Given the description of an element on the screen output the (x, y) to click on. 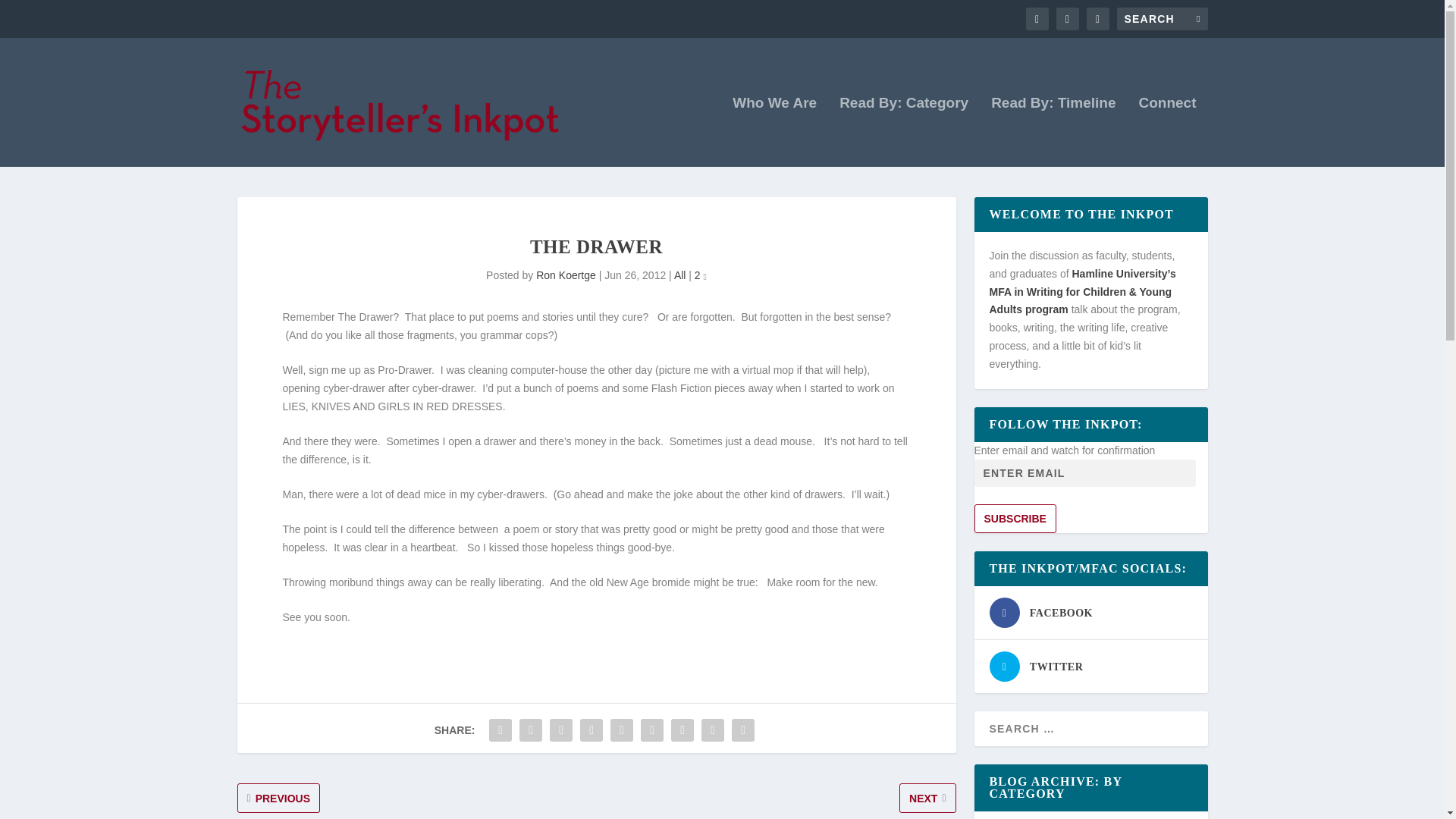
Share "The Drawer" via Twitter (530, 729)
Read By: Timeline (1053, 132)
2 (700, 275)
All (679, 275)
Share "The Drawer" via Print (743, 729)
Share "The Drawer" via Buffer (651, 729)
Share "The Drawer" via Stumbleupon (681, 729)
Share "The Drawer" via Pinterest (622, 729)
Read By: Category (904, 132)
Posts by Ron Koertge (565, 275)
Ron Koertge (565, 275)
Search for: (1161, 18)
Who We Are (774, 132)
Share "The Drawer" via Facebook (499, 729)
Share "The Drawer" via Tumblr (591, 729)
